Given the description of an element on the screen output the (x, y) to click on. 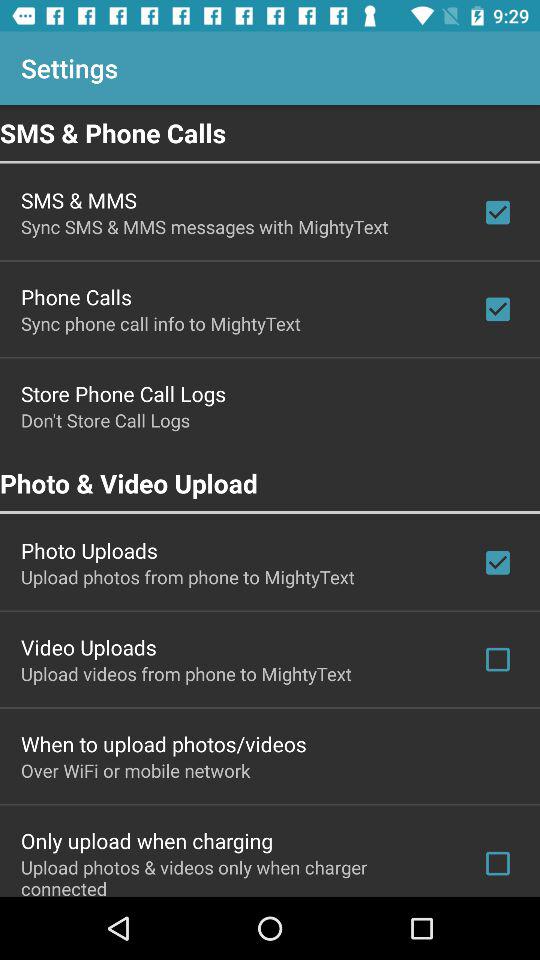
flip until photo uploads (89, 550)
